Given the description of an element on the screen output the (x, y) to click on. 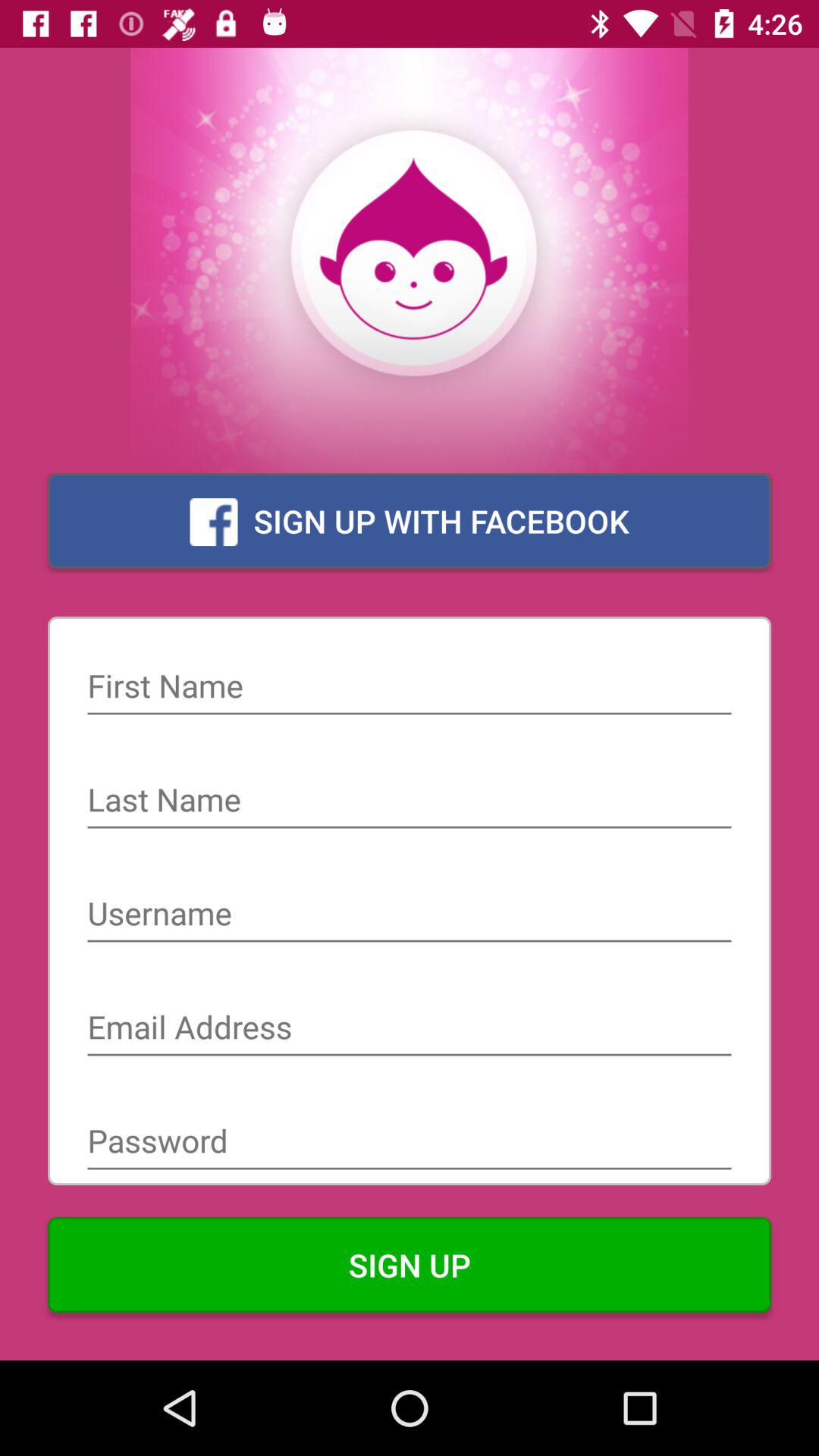
username textbox (409, 915)
